Given the description of an element on the screen output the (x, y) to click on. 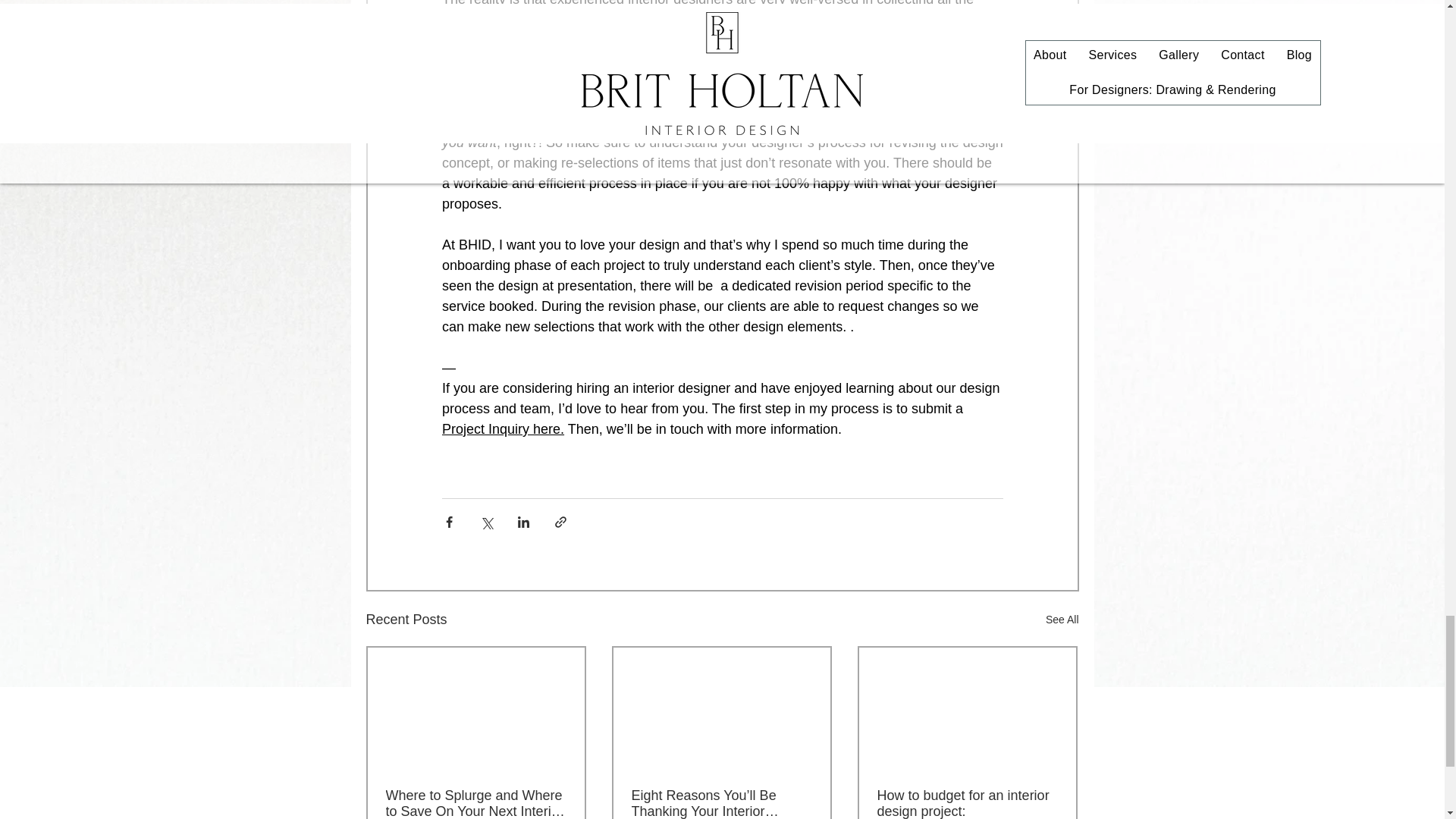
See All (1061, 619)
Project Inquiry here. (502, 428)
How to budget for an interior design project: (966, 803)
